Given the description of an element on the screen output the (x, y) to click on. 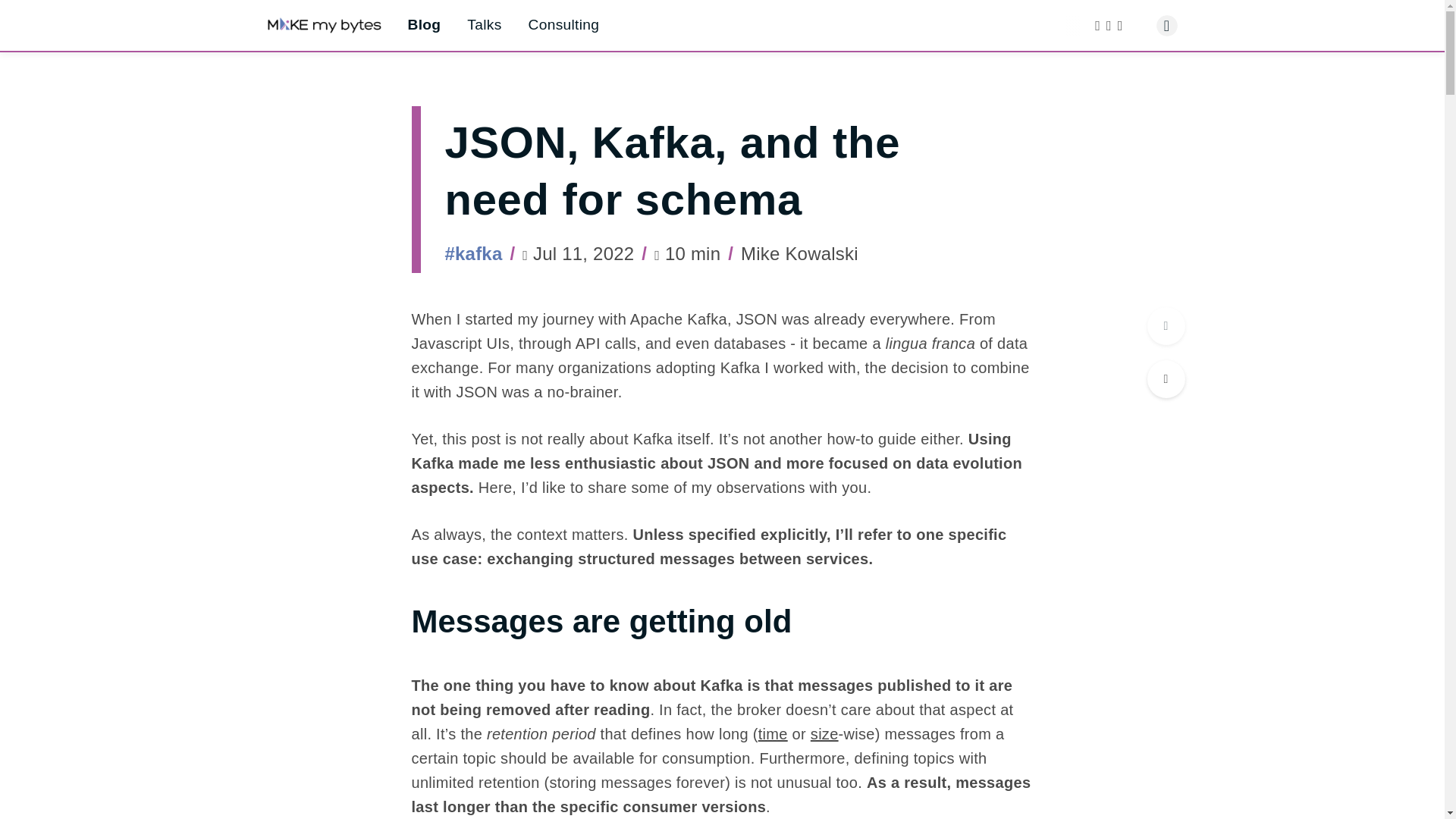
Consulting (563, 24)
time (772, 733)
Talks (483, 24)
size (824, 733)
Blog (424, 24)
